Given the description of an element on the screen output the (x, y) to click on. 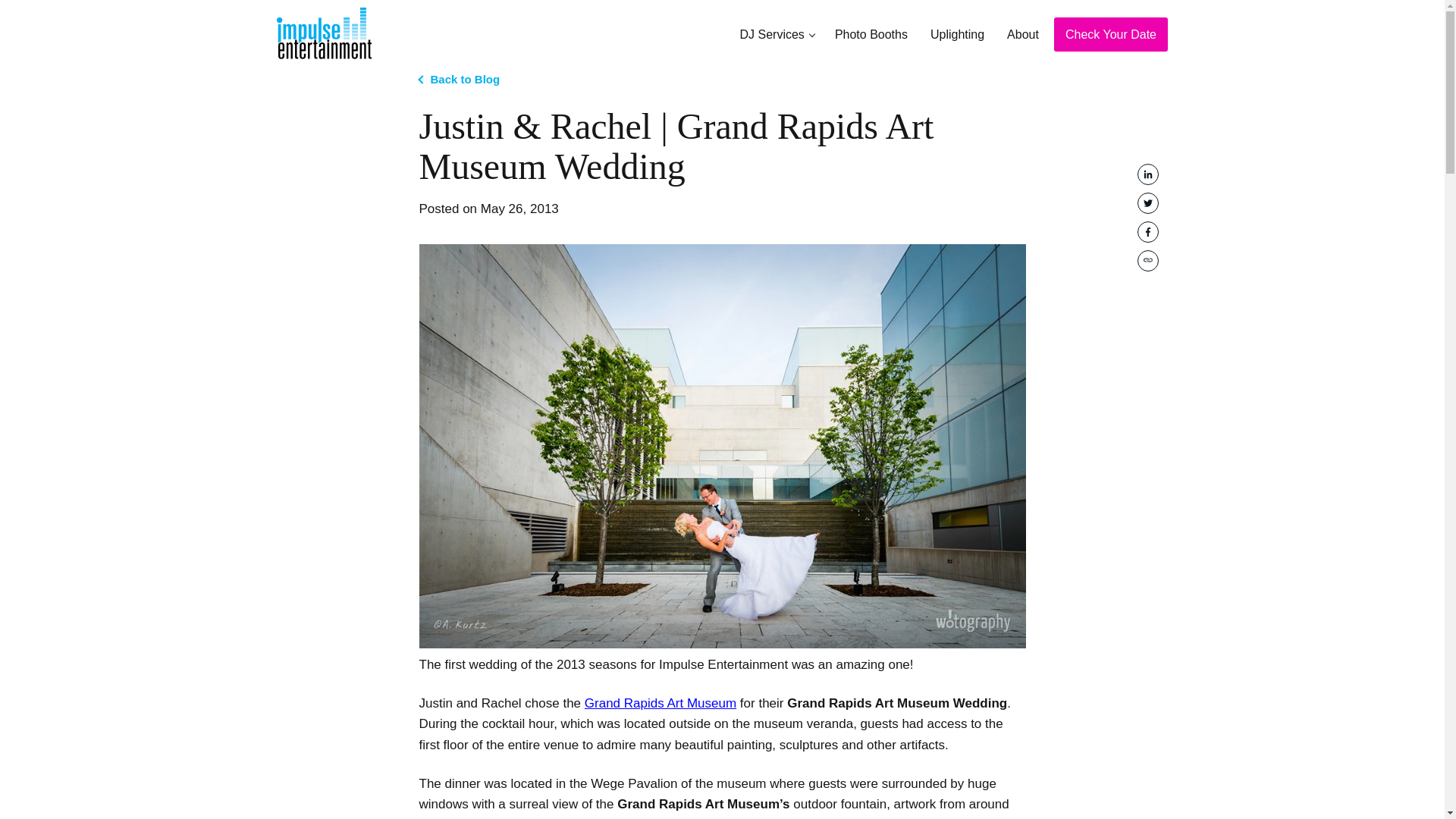
Share this on LinkedIn (1147, 174)
Impulse Entertainment (341, 67)
Grand Rapids Art Museum (660, 703)
Uplighting (956, 34)
Share this on LinkedIn (1147, 174)
About (1022, 34)
Share this on Twitter (1147, 202)
Photo Booths (871, 34)
Share this on Facebook (1147, 231)
Check Your Date (1110, 34)
